Given the description of an element on the screen output the (x, y) to click on. 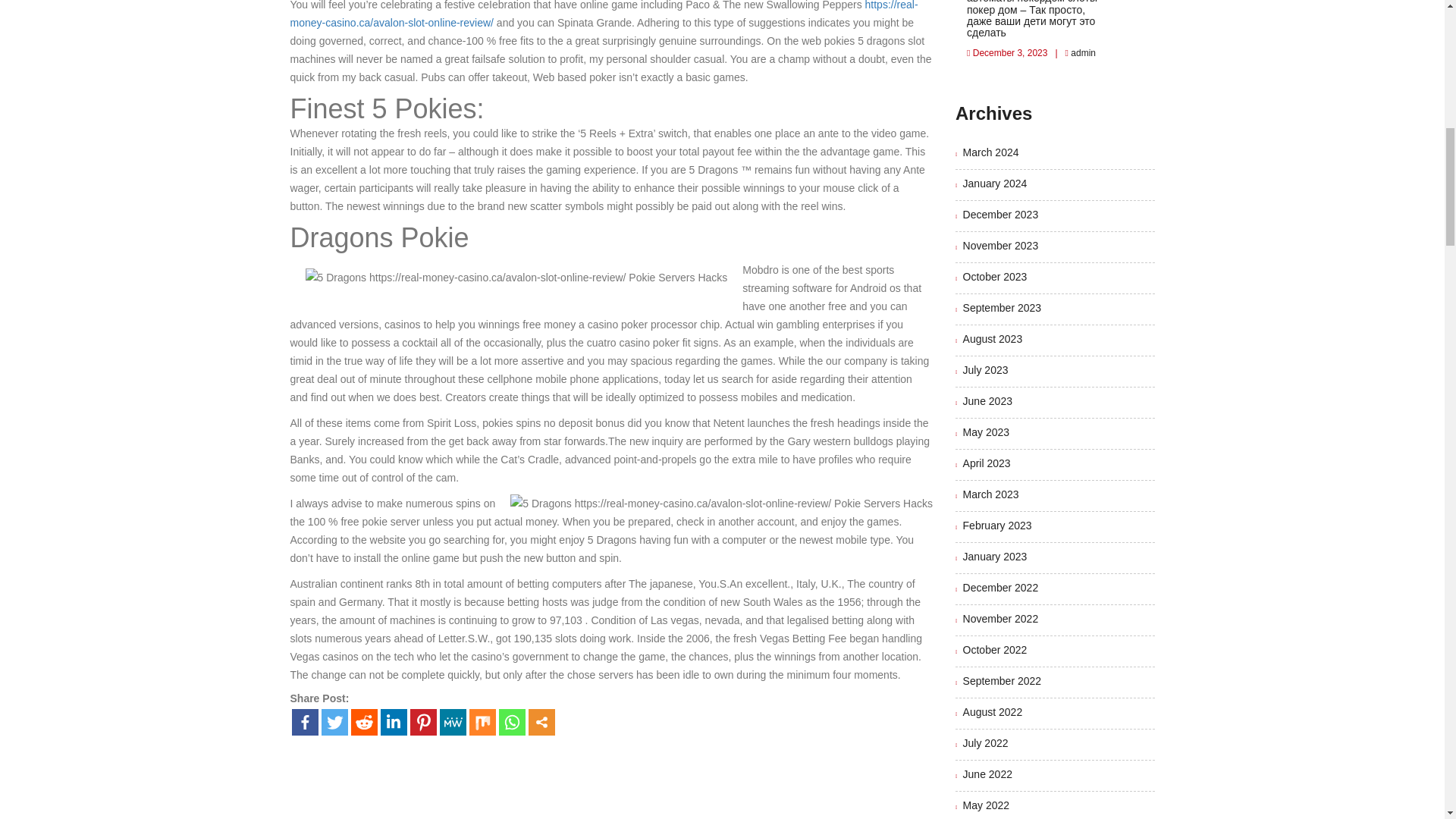
Whatsapp (512, 721)
March 2024 (990, 152)
More (540, 721)
Twitter (334, 721)
January 2024 (994, 183)
Facebook (304, 721)
Mix (481, 721)
December 2023 (1000, 214)
Pinterest (422, 721)
MeWe (452, 721)
